Given the description of an element on the screen output the (x, y) to click on. 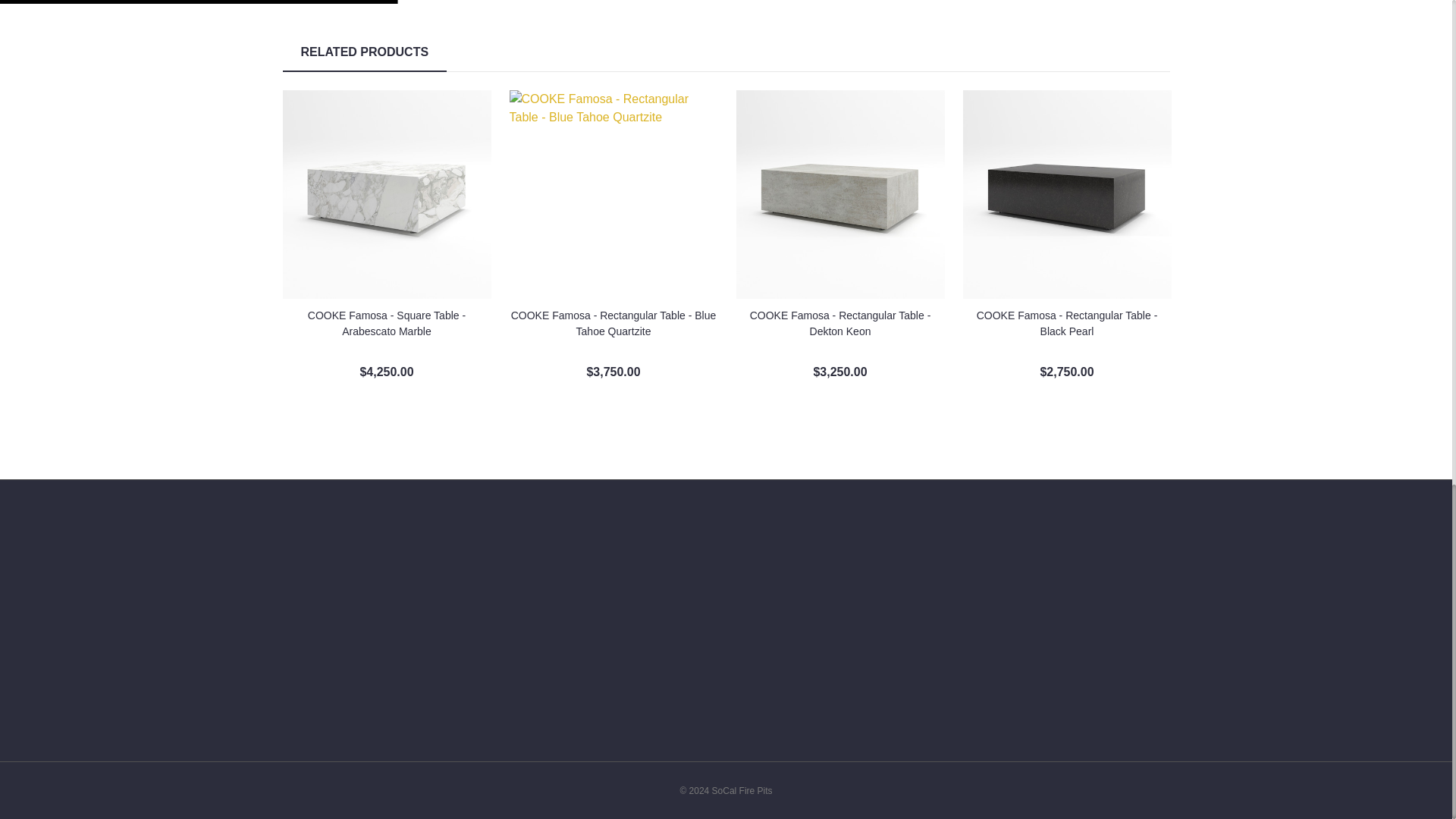
COOKE Famosa - Rectangular Table - Dekton Keon (839, 194)
COOKE Famosa - Rectangular Table - Black Pearl (1067, 194)
COOKE Famosa - Rectangular Table - Blue Tahoe Quartzite (613, 194)
COOKE Famosa - Square Table - Arabescato Marble (386, 194)
